Given the description of an element on the screen output the (x, y) to click on. 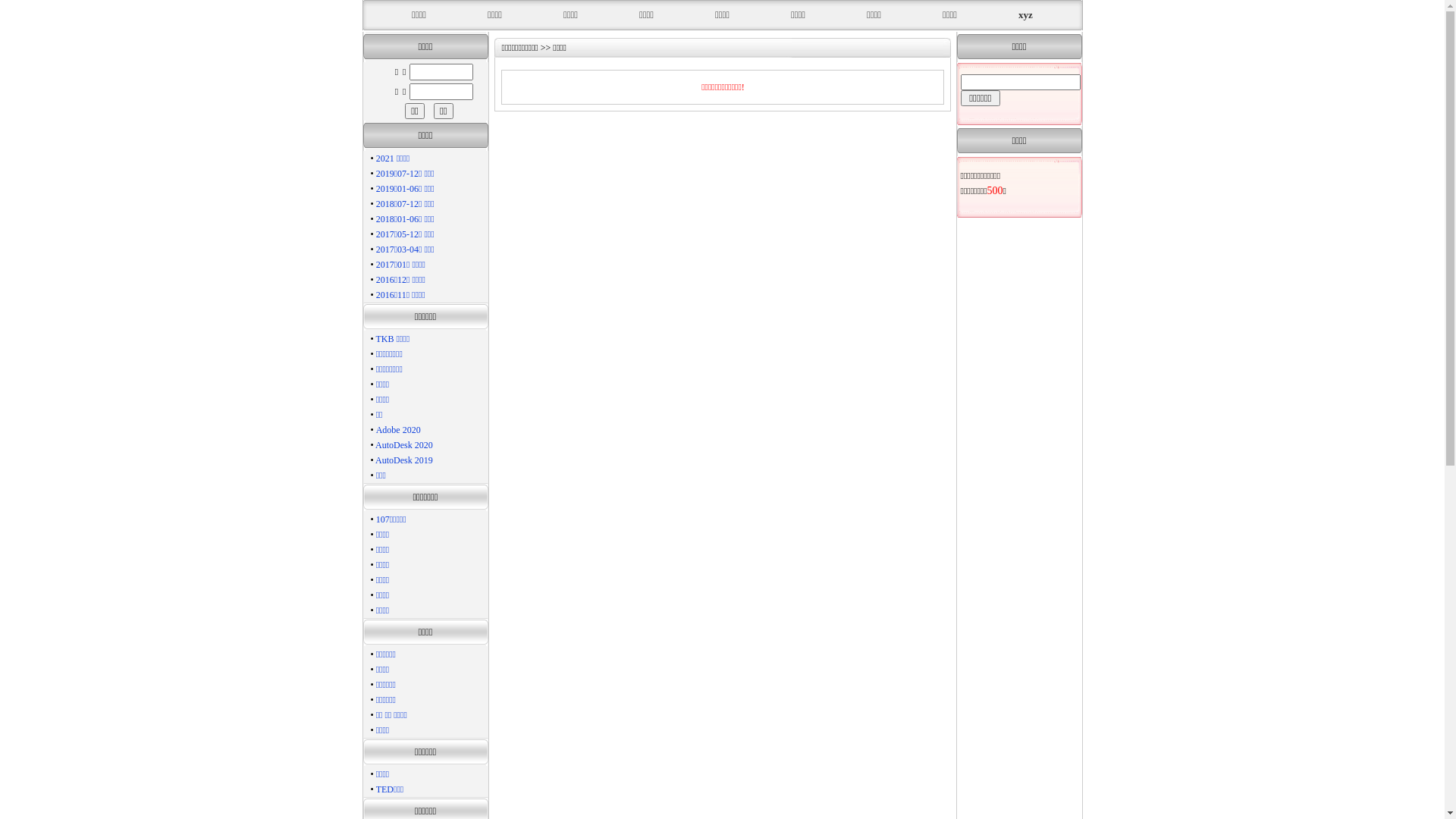
xyz Element type: text (1025, 14)
AutoDesk 2020 Element type: text (404, 444)
AutoDesk 2019 Element type: text (404, 460)
Adobe 2020 Element type: text (398, 429)
